Given the description of an element on the screen output the (x, y) to click on. 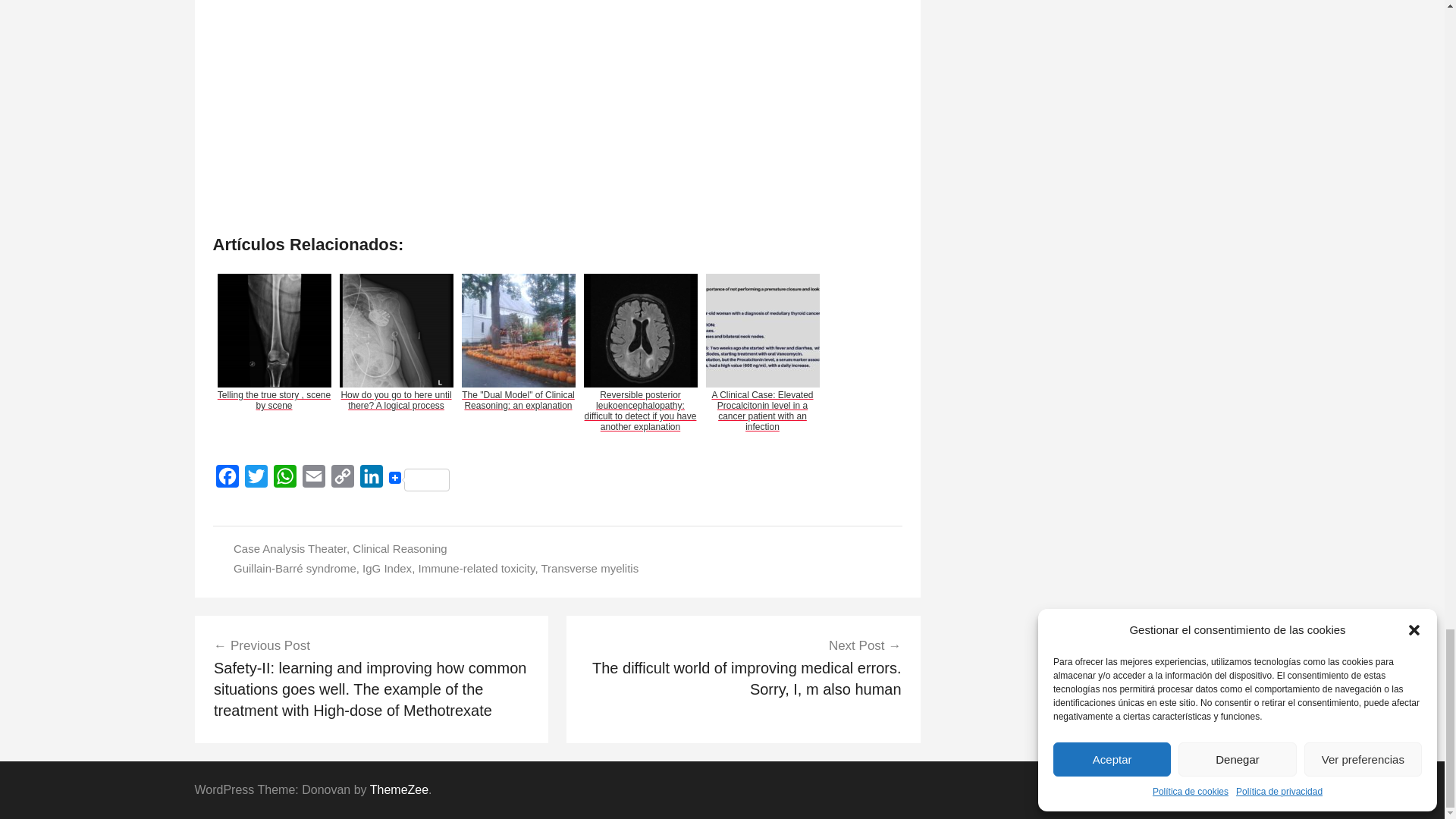
Twitter (255, 480)
WhatsApp (283, 480)
Twitter (255, 480)
Facebook (226, 480)
Facebook (226, 480)
Copy Link (341, 480)
Email (312, 480)
Copy Link (341, 480)
WhatsApp (283, 480)
Email (312, 480)
LinkedIn (370, 480)
